Given the description of an element on the screen output the (x, y) to click on. 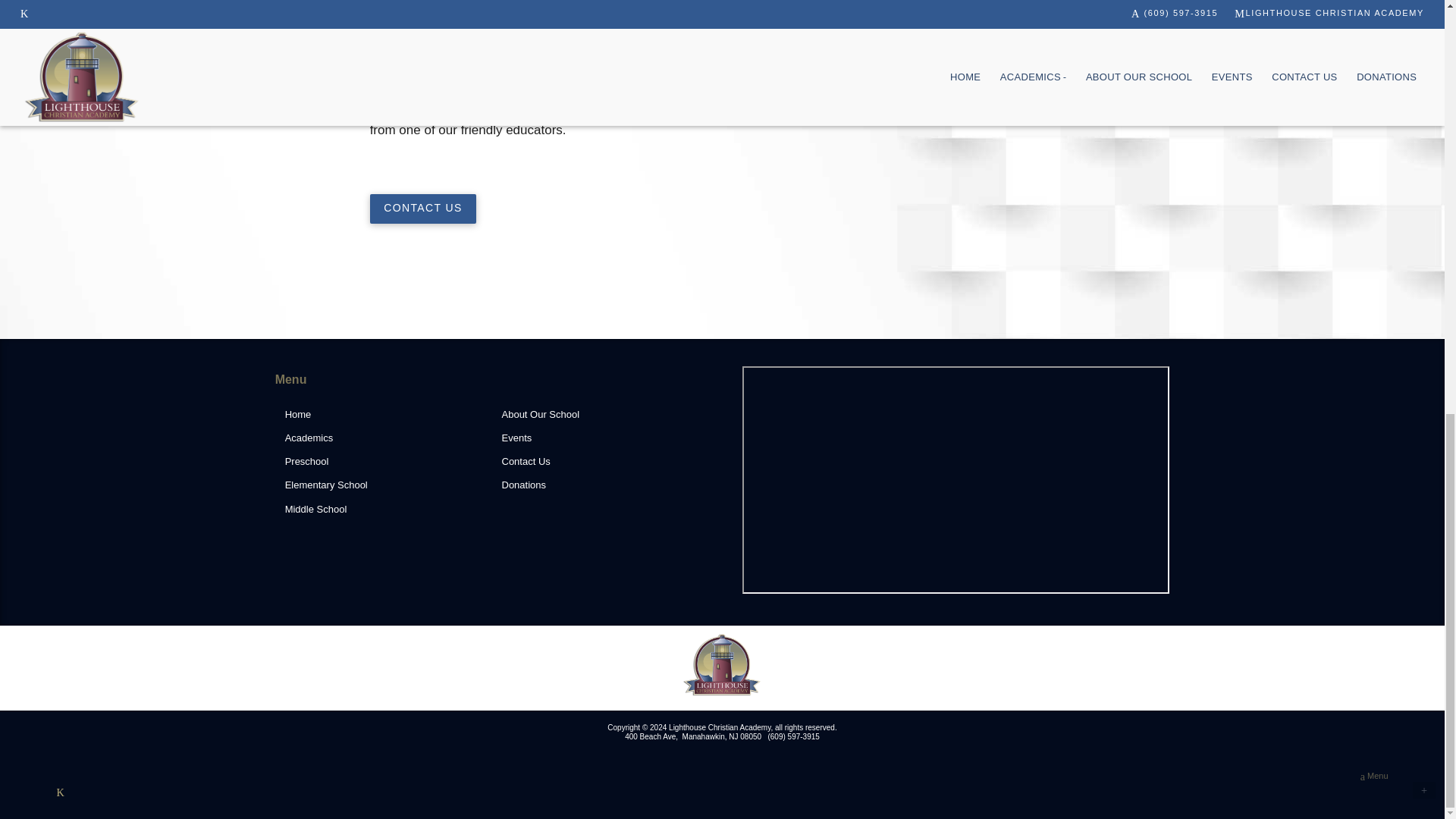
Elementary School (380, 485)
Contact Us (596, 461)
Facebook (59, 791)
Middle School (380, 509)
Events (596, 438)
Menu (1374, 776)
Academics (380, 438)
Open Menu (1374, 776)
Preschool (380, 461)
Donations (596, 485)
Home (380, 415)
About Our School (596, 415)
Lighthouse Christian Academy (721, 664)
